Given the description of an element on the screen output the (x, y) to click on. 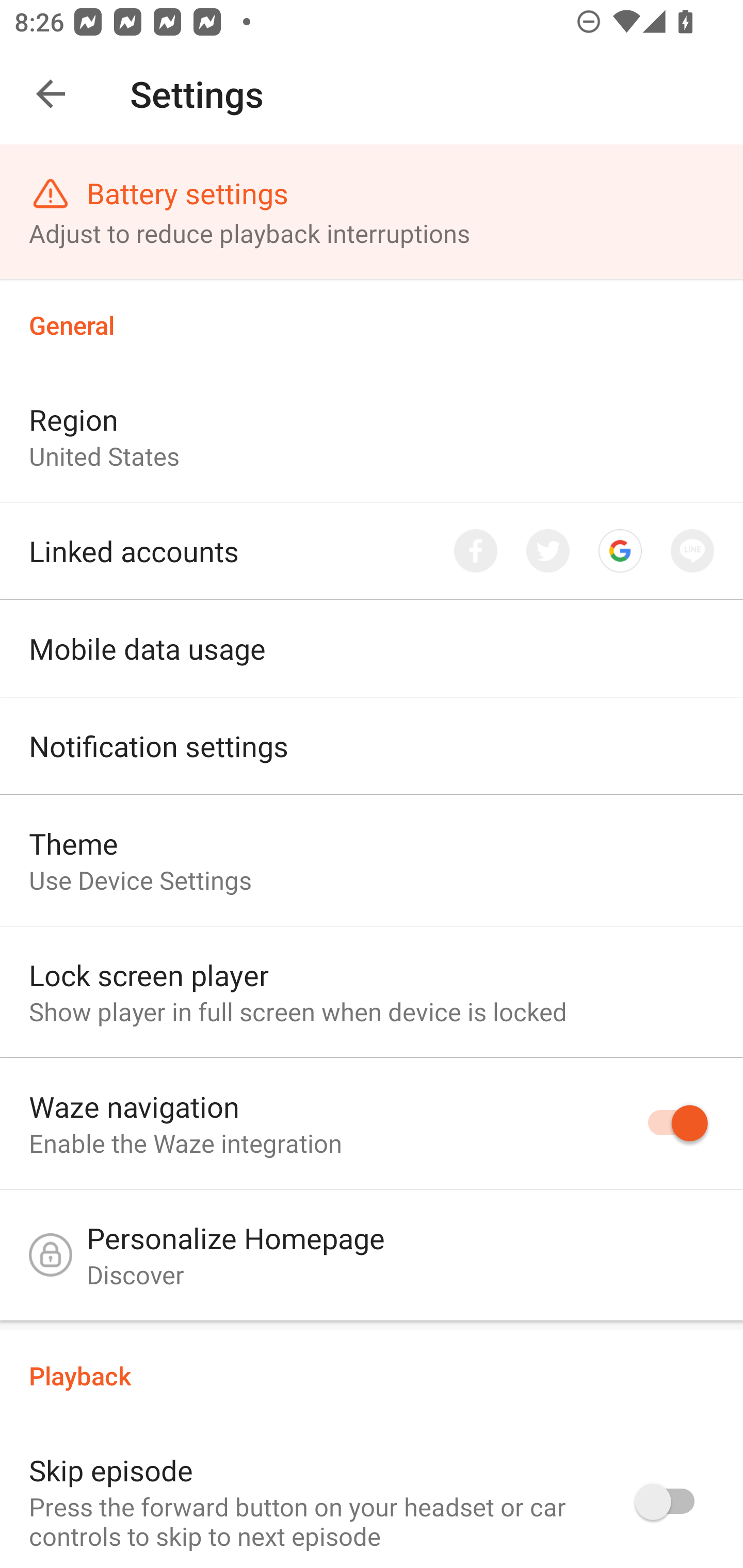
Navigate up (50, 93)
Region United States (371, 436)
Linked accounts (371, 550)
Mobile data usage (371, 648)
Notification settings (371, 745)
Theme Use Device Settings (371, 860)
Waze navigation Enable the Waze integration (371, 1124)
Personalize Homepage Discover (371, 1259)
